Given the description of an element on the screen output the (x, y) to click on. 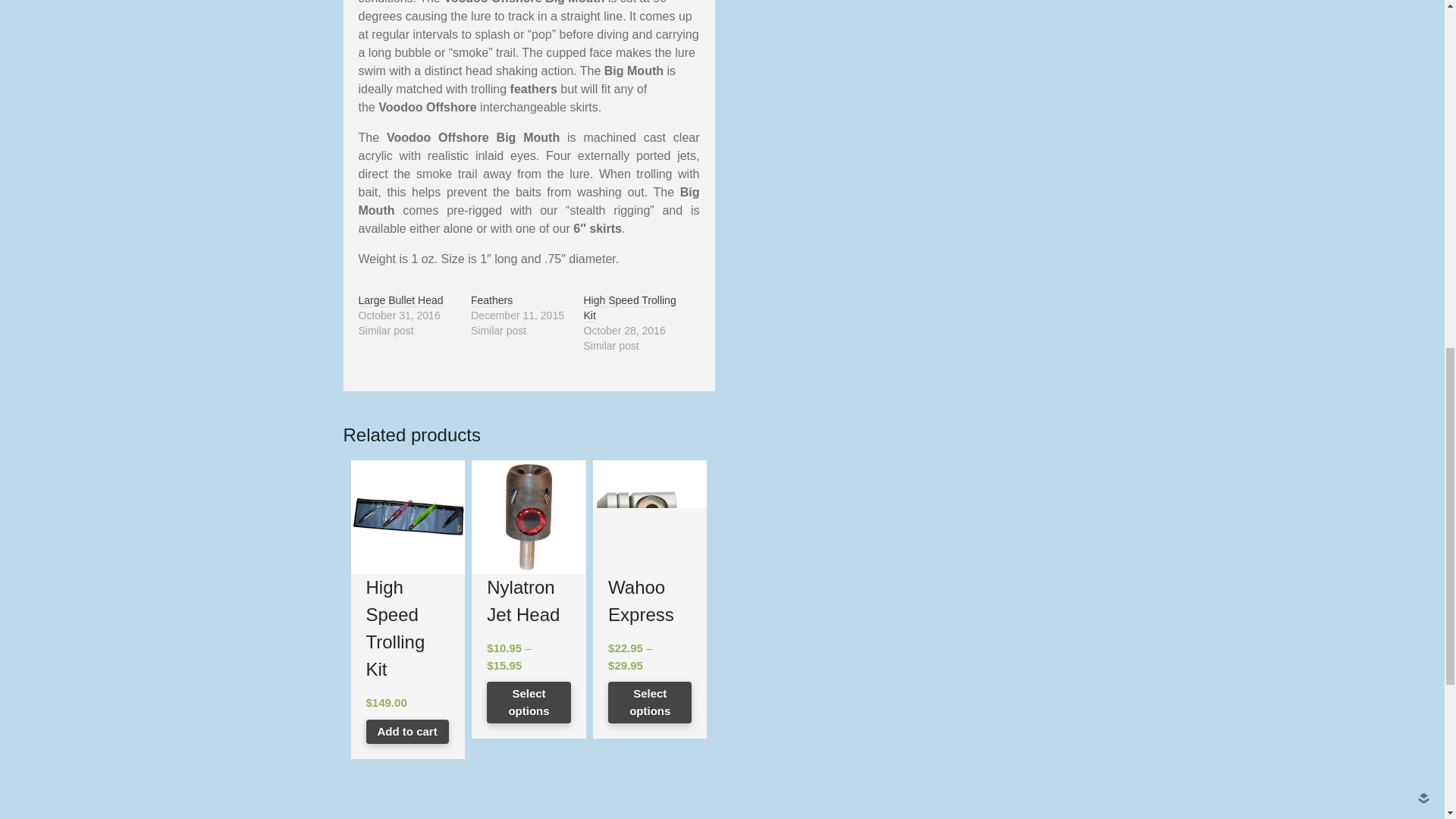
Large Bullet Head (400, 300)
Feathers (491, 300)
High Speed Trolling Kit (630, 308)
